Given the description of an element on the screen output the (x, y) to click on. 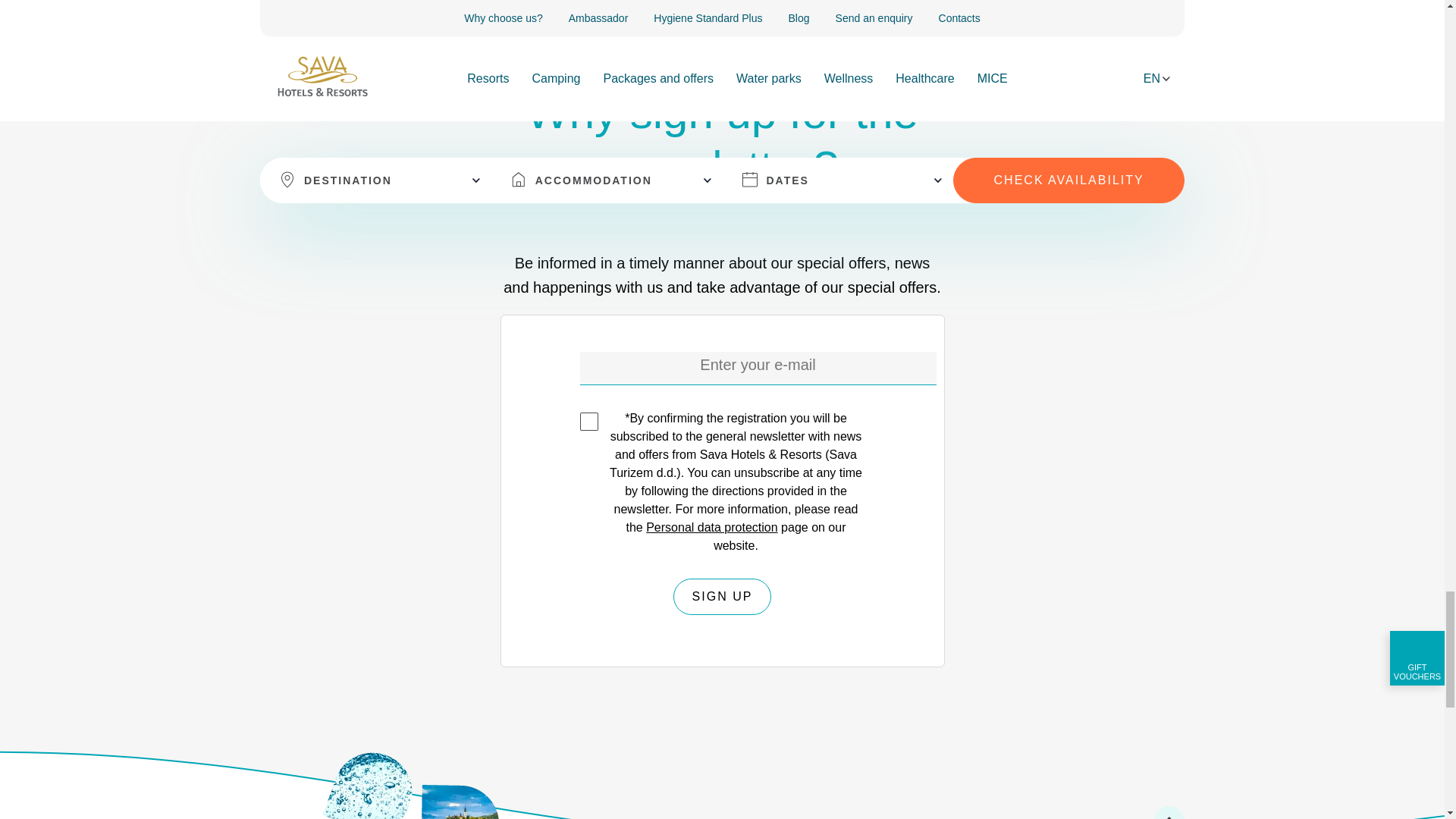
Varstvo osebnih podatkov (711, 526)
